Given the description of an element on the screen output the (x, y) to click on. 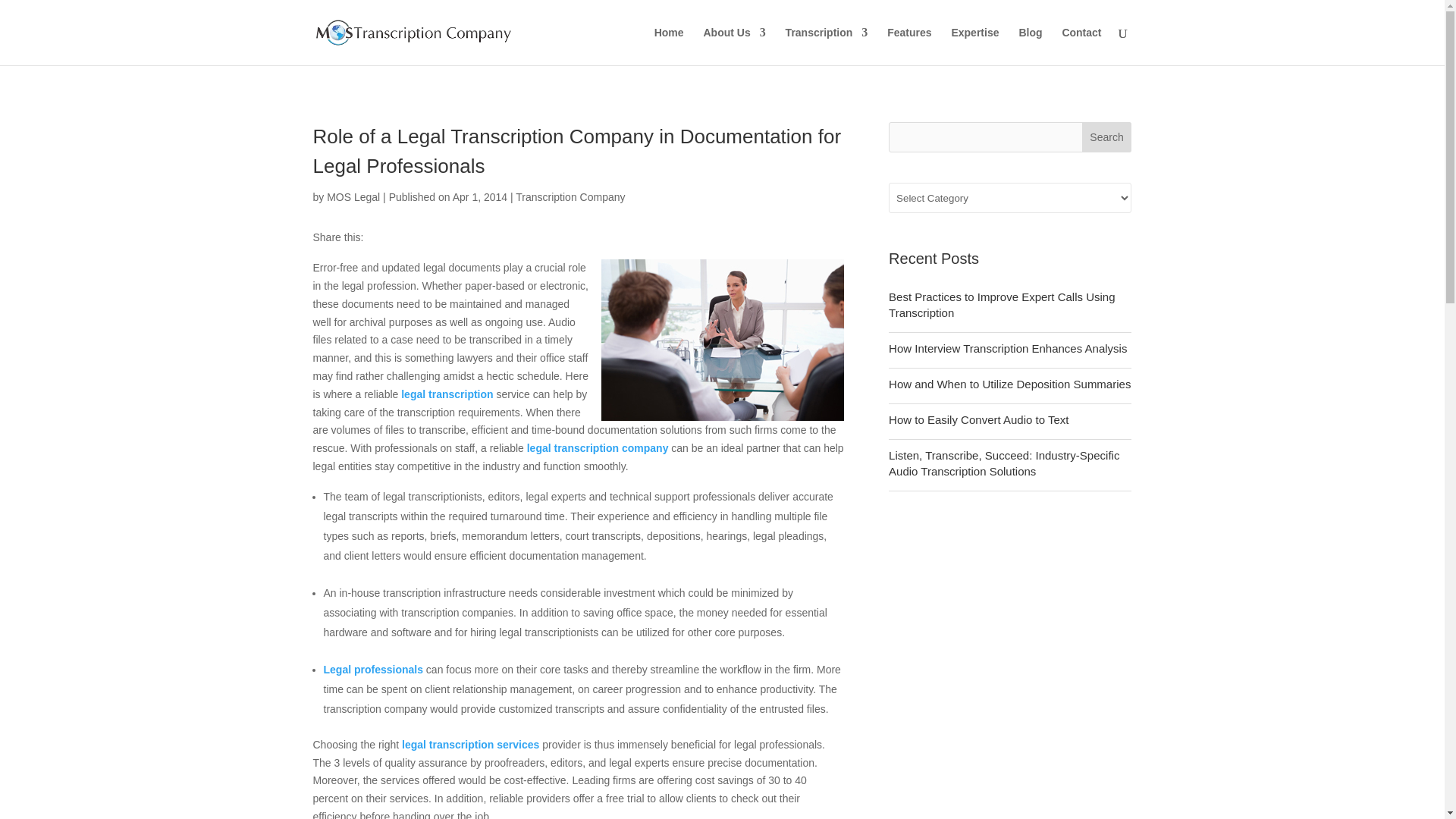
Legal Professionals (372, 669)
Legal Transcription Company (597, 448)
Posts by MOS Legal (353, 196)
Legal Transcription (447, 394)
About Us (734, 46)
Transcription (826, 46)
Legal Transcription Services (469, 744)
